Given the description of an element on the screen output the (x, y) to click on. 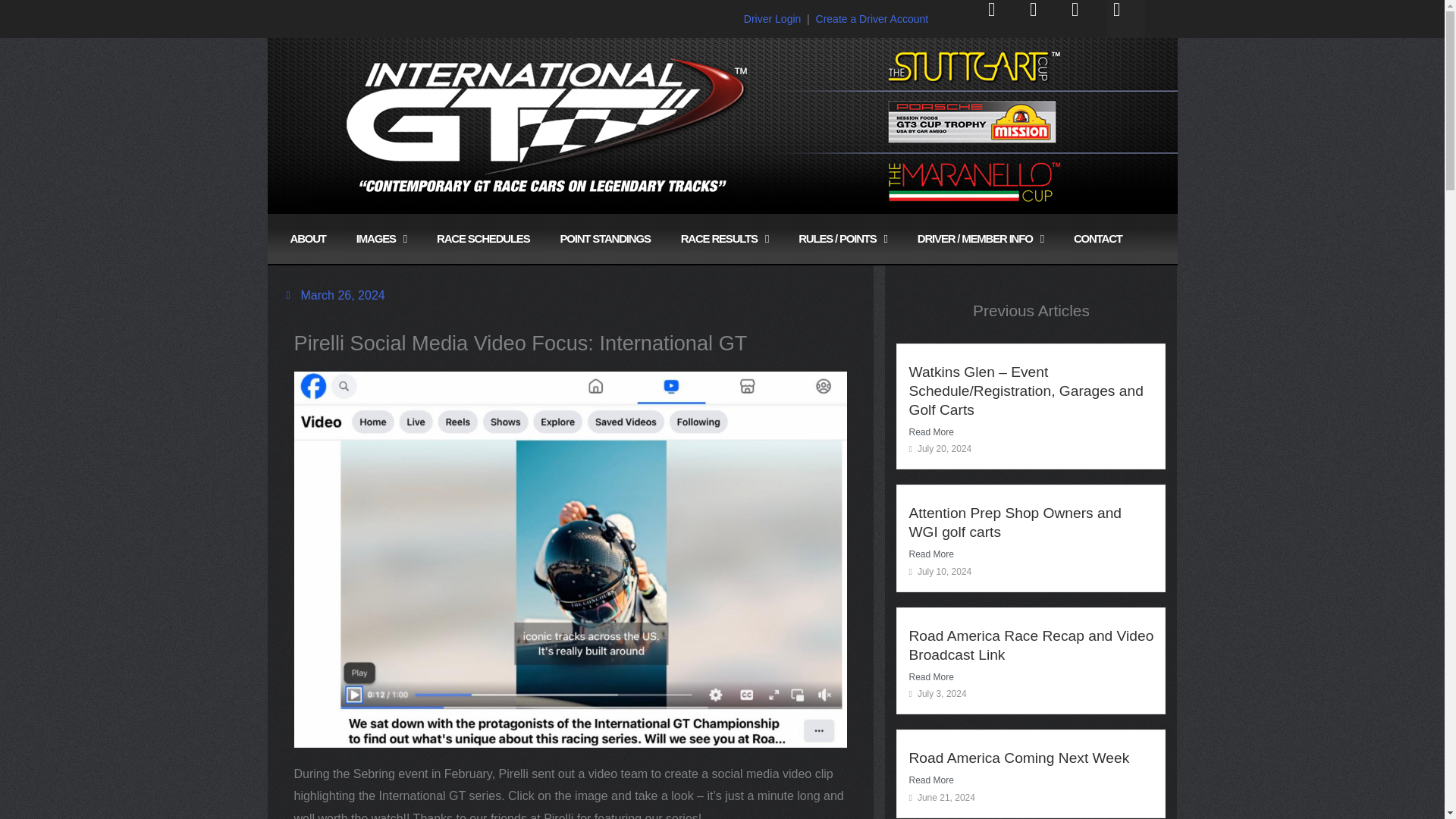
ABOUT (307, 238)
Create a Driver Account (871, 19)
Instagram (1125, 18)
Twitter (1084, 18)
IMAGES (381, 238)
Youtube (1000, 18)
Facebook (1042, 18)
Road America Race Recap and Video Broadcast Link (1030, 645)
Attention Prep Shop Owners and WGI golf carts (1014, 522)
Driver Login (772, 19)
Road America Coming Next Week (1018, 757)
